Given the description of an element on the screen output the (x, y) to click on. 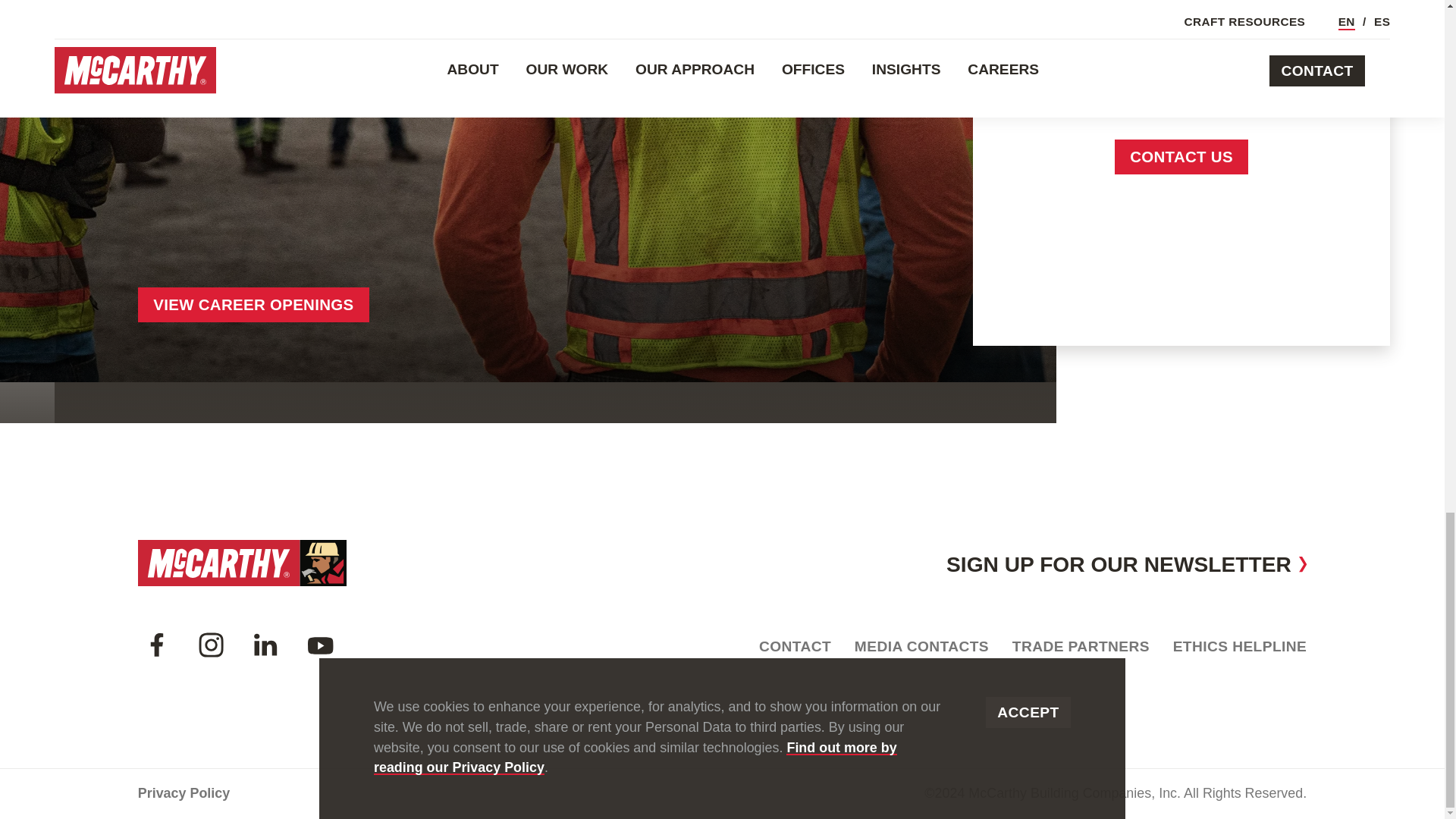
Ethics Helpline (1240, 647)
